Given the description of an element on the screen output the (x, y) to click on. 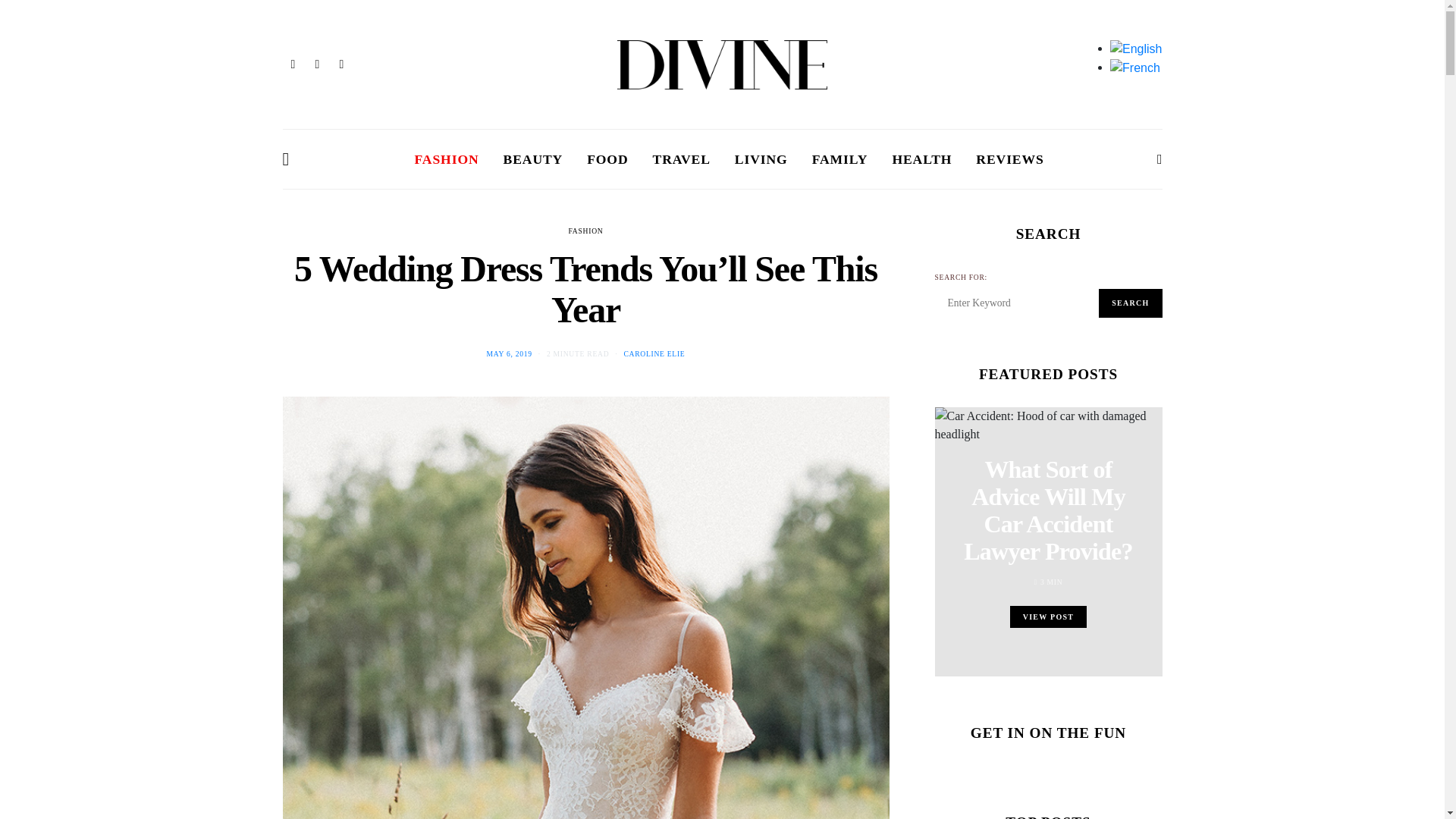
FASHION (586, 230)
HEALTH (921, 159)
TRAVEL (681, 159)
MAY 6, 2019 (509, 353)
BEAUTY (533, 159)
LIVING (761, 159)
View all posts by Caroline Elie (653, 353)
FASHION (446, 159)
FAMILY (839, 159)
REVIEWS (1009, 159)
